Given the description of an element on the screen output the (x, y) to click on. 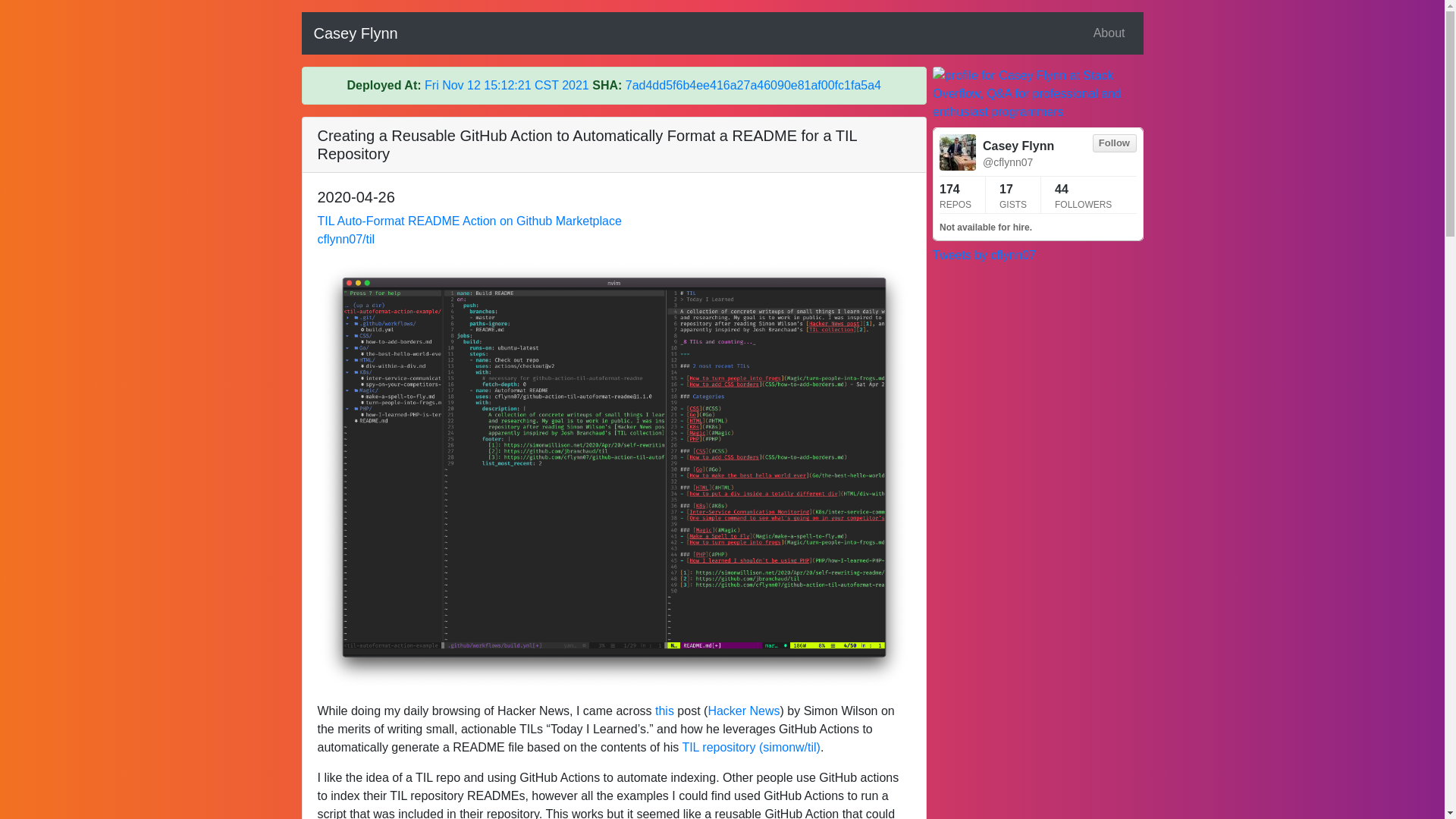
Fri Nov 12 15:12:21 CST 2021 (507, 84)
this (664, 710)
TIL Auto-Format README Action on Github Marketplace (469, 220)
7ad4dd5f6b4ee416a27a46090e81af00fc1fa5a4 (753, 84)
Tweets by cflynn07 (984, 254)
Hacker News (742, 710)
Casey Flynn (355, 33)
